Given the description of an element on the screen output the (x, y) to click on. 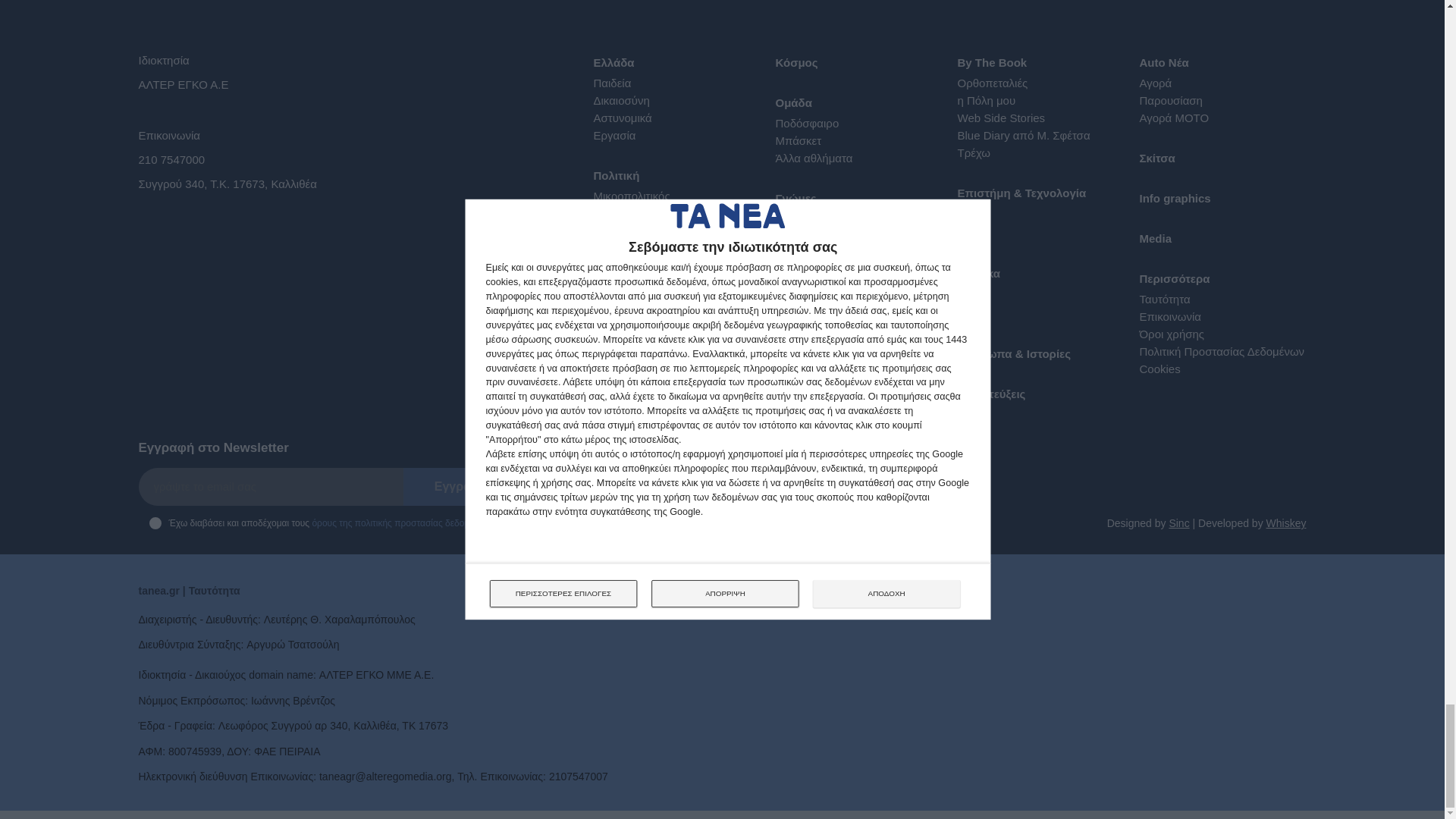
on (154, 522)
